Given the description of an element on the screen output the (x, y) to click on. 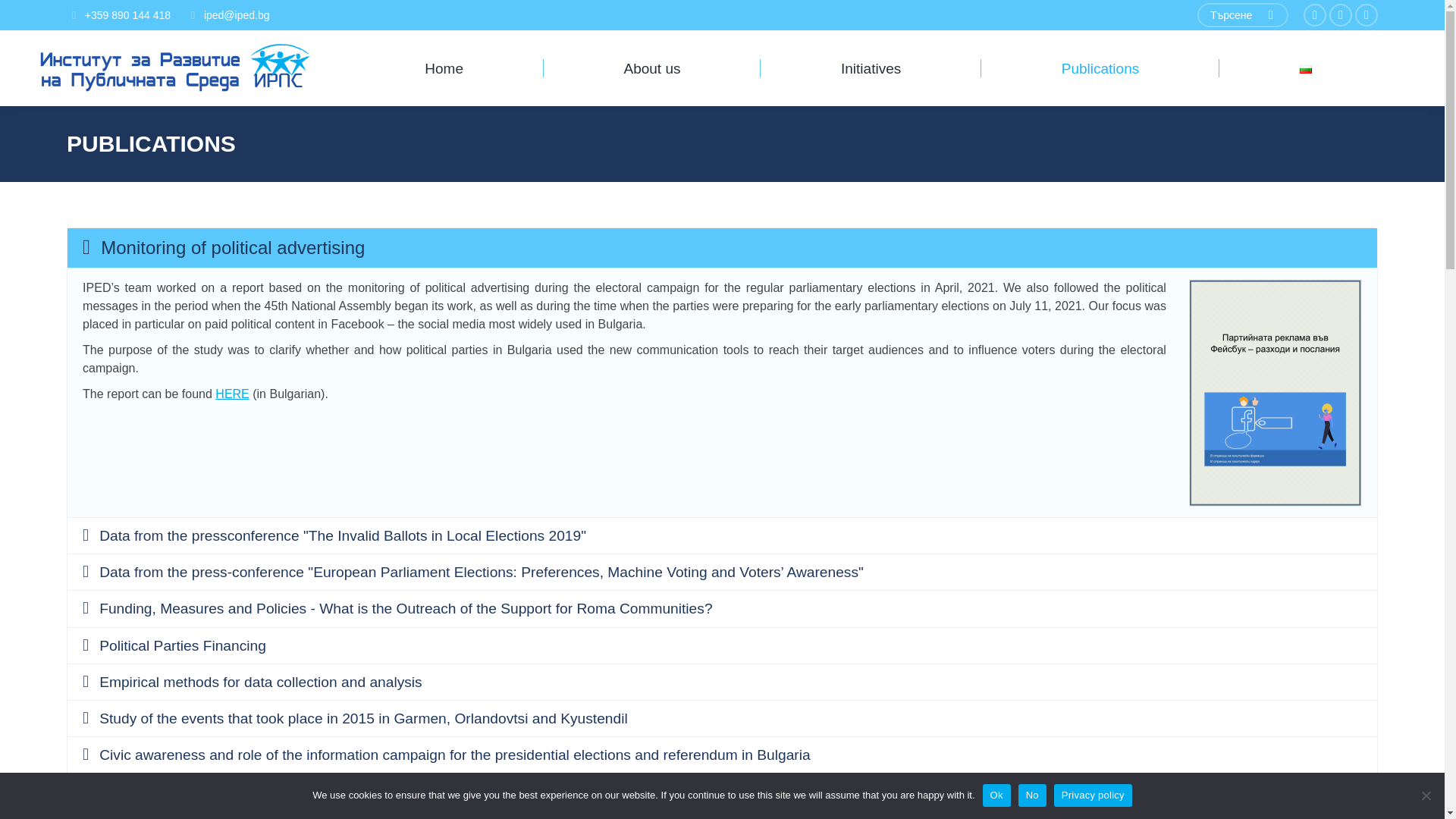
Search form (1242, 15)
Initiatives (871, 68)
Publications (1099, 68)
YouTube page opens in new window (1366, 15)
Twitter page opens in new window (1340, 15)
Facebook page opens in new window (1314, 15)
About us (651, 68)
HERE (231, 393)
Twitter page opens in new window (1340, 15)
Monitoring of political advertising (721, 247)
Facebook page opens in new window (1314, 15)
YouTube page opens in new window (1366, 15)
Home (444, 68)
